Given the description of an element on the screen output the (x, y) to click on. 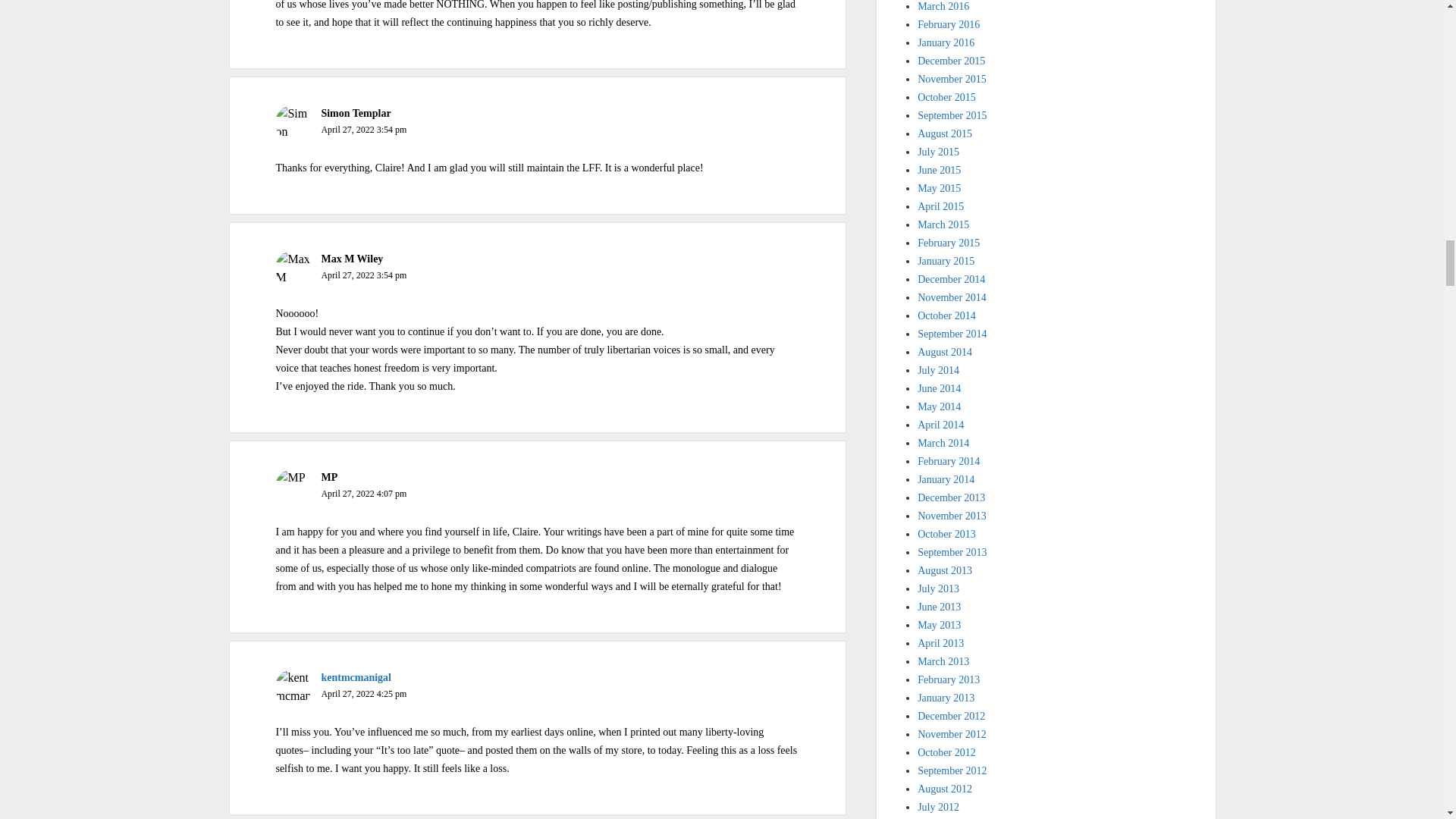
kentmcmanigal (355, 677)
